Given the description of an element on the screen output the (x, y) to click on. 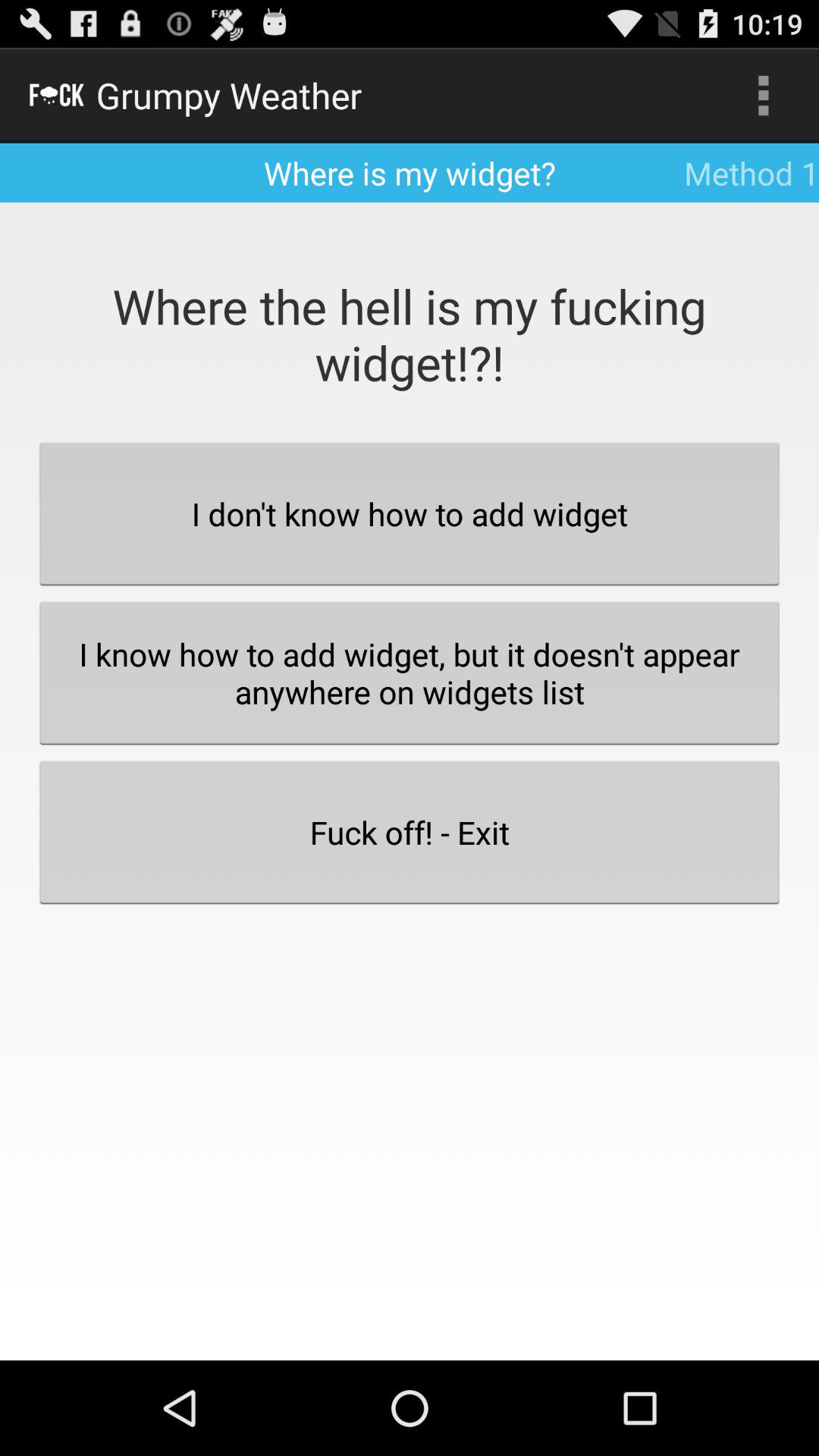
press the icon to the right of where is my (763, 95)
